Given the description of an element on the screen output the (x, y) to click on. 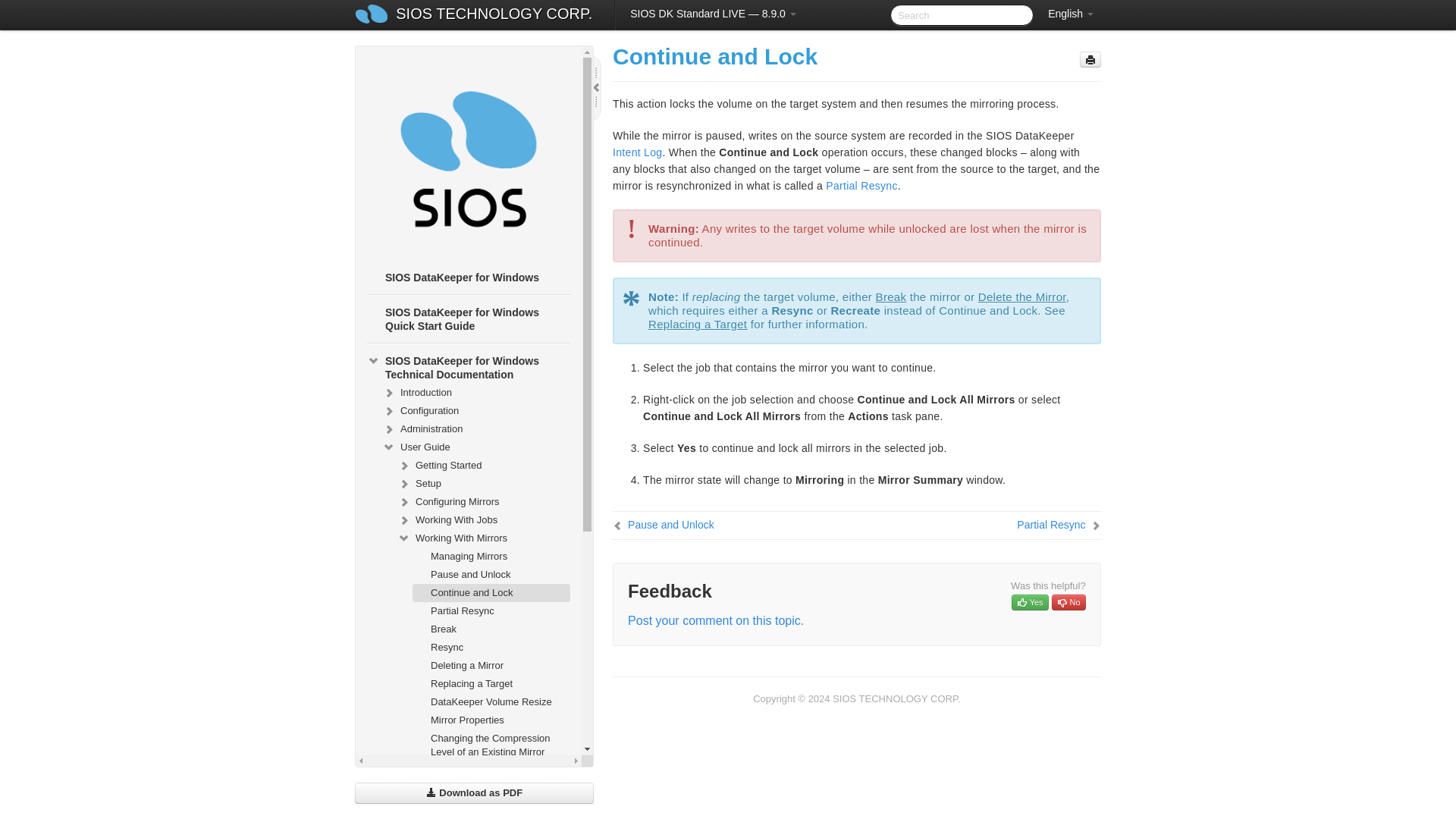
Print page (1090, 59)
SIOS TECHNOLOGY CORP. (493, 15)
English (1070, 14)
